Given the description of an element on the screen output the (x, y) to click on. 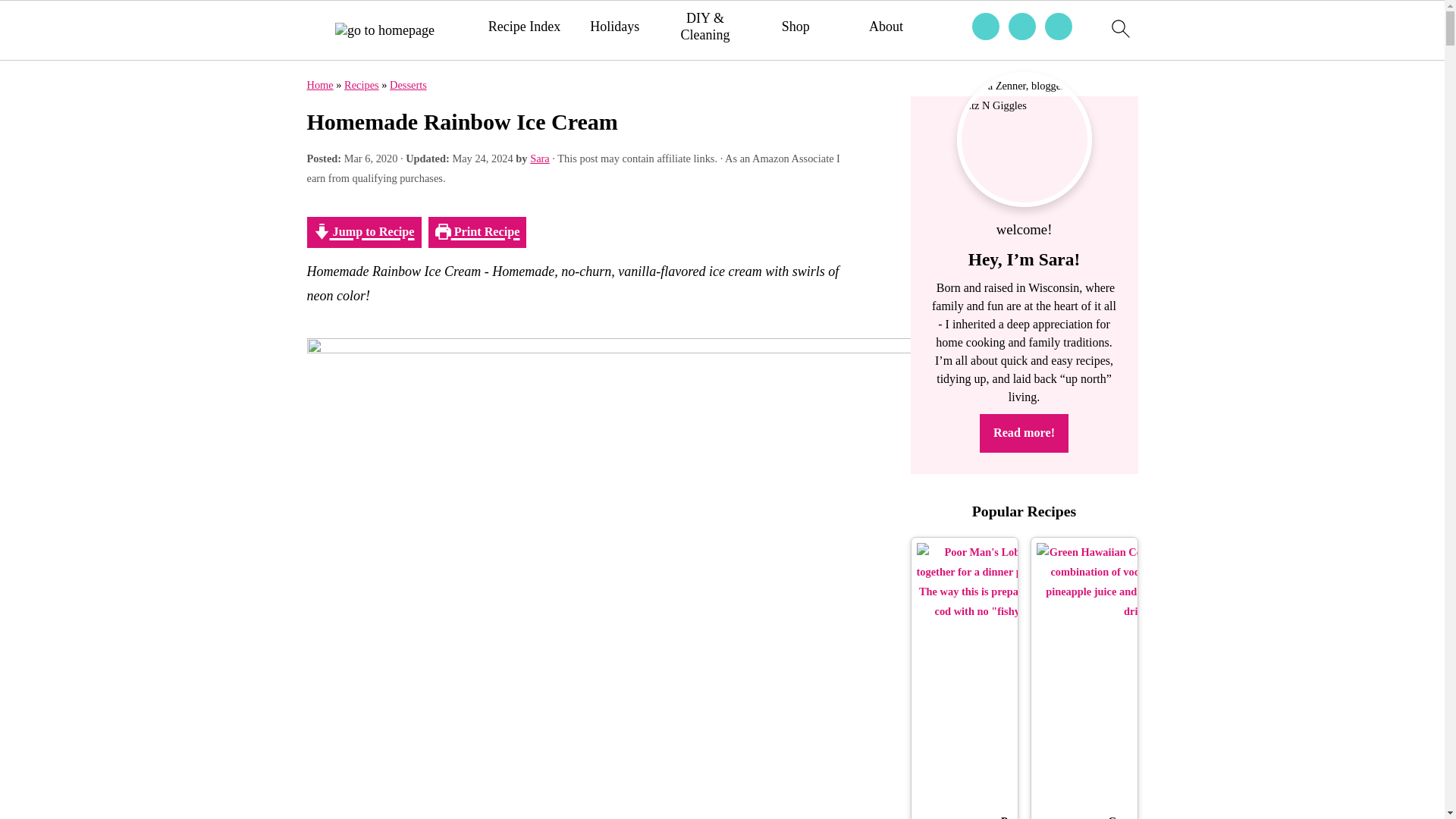
Jump to Recipe (362, 232)
Recipe Index (523, 27)
About (885, 27)
Shop (795, 27)
Home (319, 84)
Holidays (614, 27)
Recipes (360, 84)
search icon (1119, 30)
Desserts (408, 84)
